Given the description of an element on the screen output the (x, y) to click on. 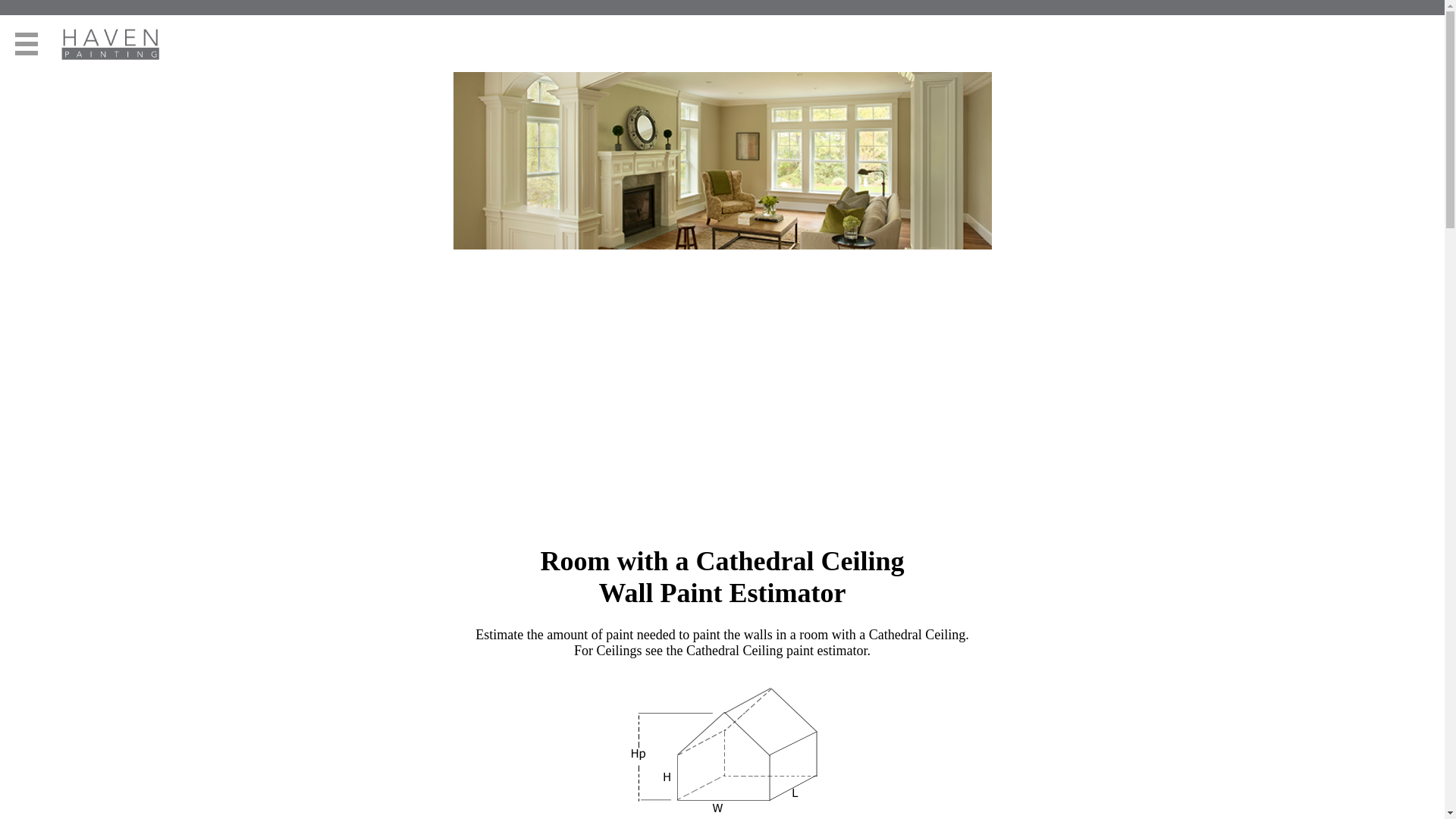
Advertisement (722, 420)
Cathedral Ceiling paint estimator (774, 650)
